Given the description of an element on the screen output the (x, y) to click on. 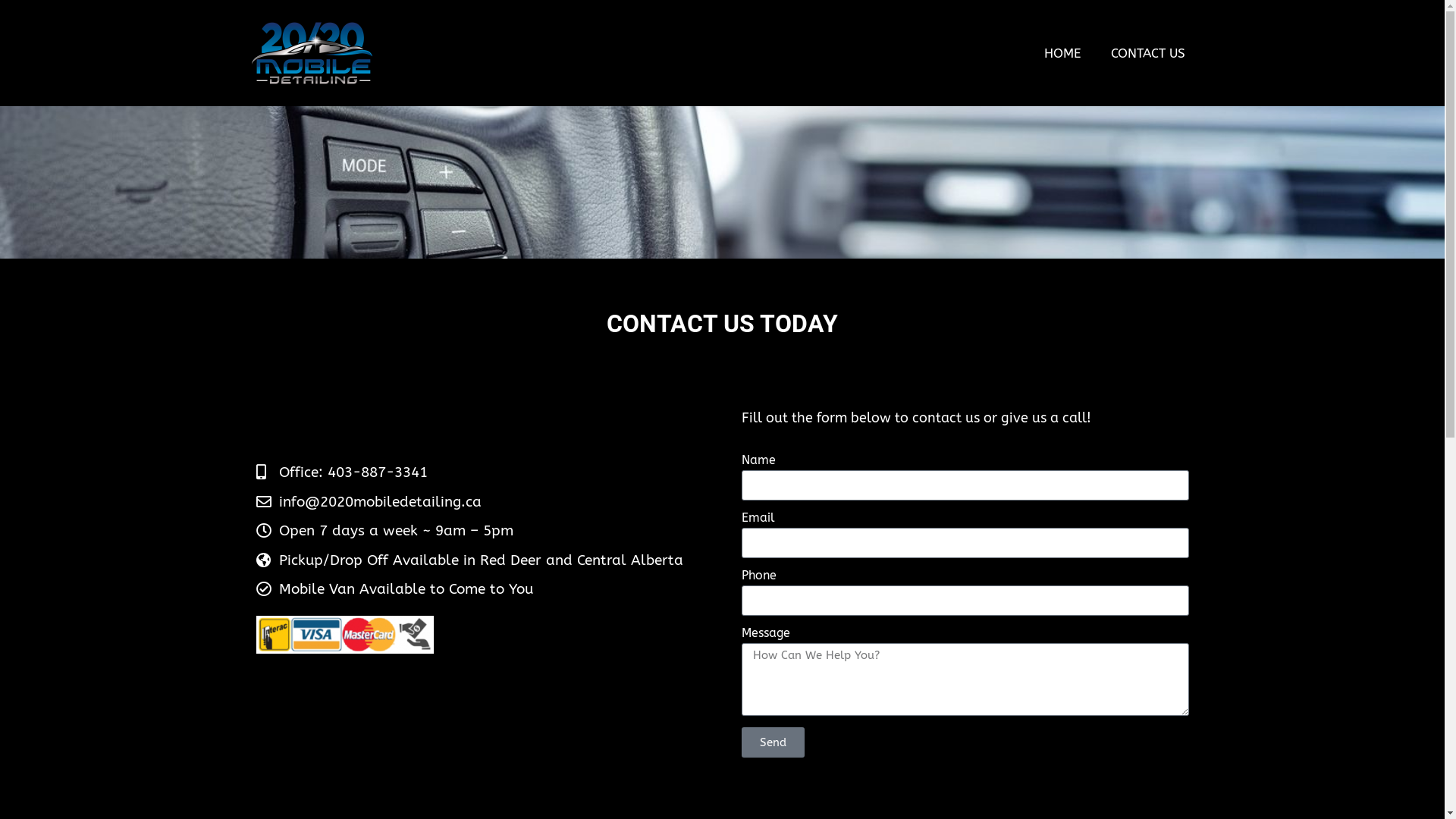
Office: 403-887-3341 Element type: text (479, 472)
Untitled attachment 00218 Element type: hover (311, 53)
Send Element type: text (772, 742)
info@2020mobiledetailing.ca Element type: text (479, 502)
CONTACT US Element type: text (1147, 52)
HOME Element type: text (1061, 52)
